Given the description of an element on the screen output the (x, y) to click on. 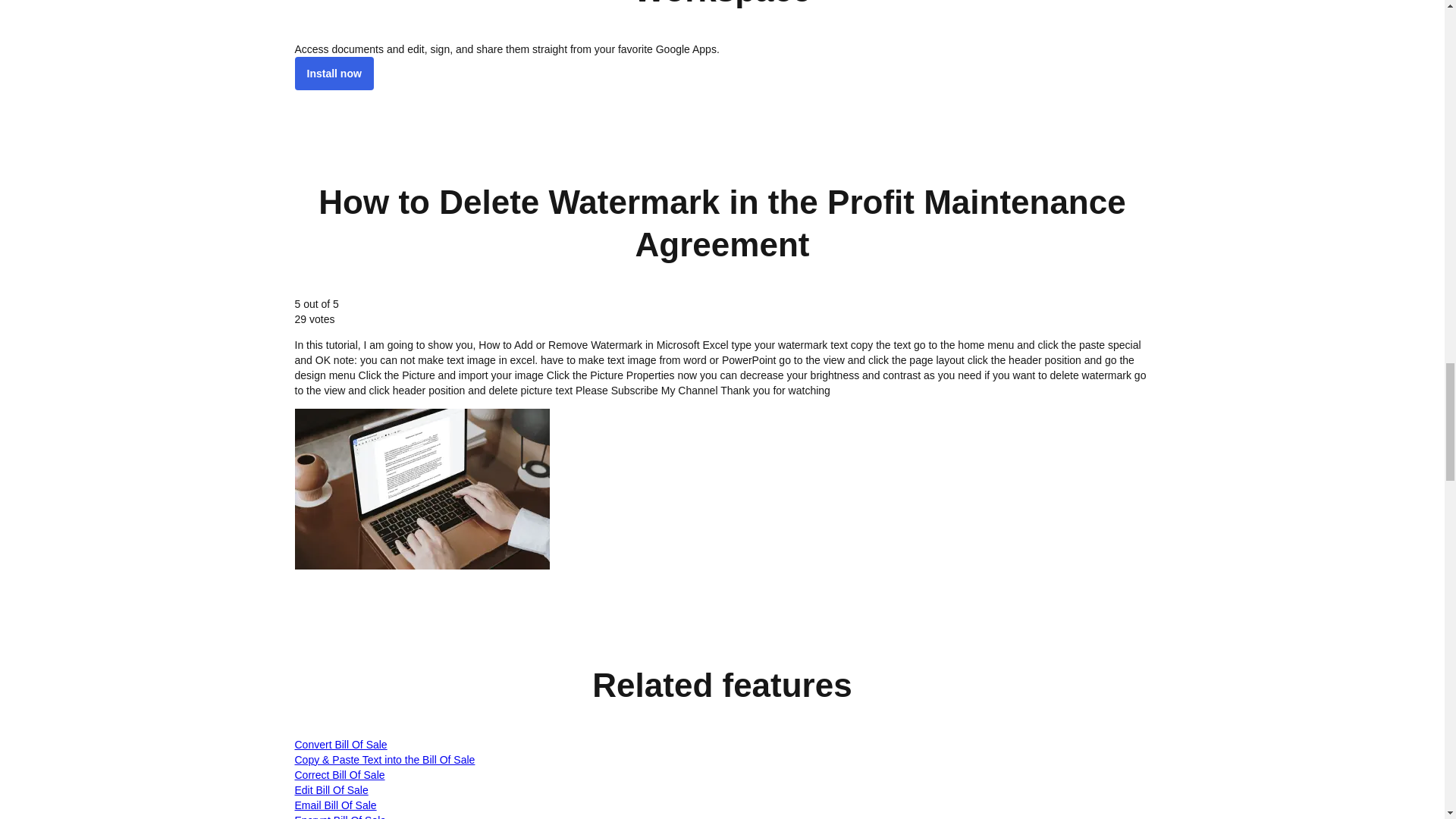
Encrypt Bill Of Sale (339, 816)
Edit Bill Of Sale (331, 789)
Email Bill Of Sale (334, 805)
Correct Bill Of Sale (339, 775)
Convert Bill Of Sale (340, 744)
Install now (333, 73)
